Given the description of an element on the screen output the (x, y) to click on. 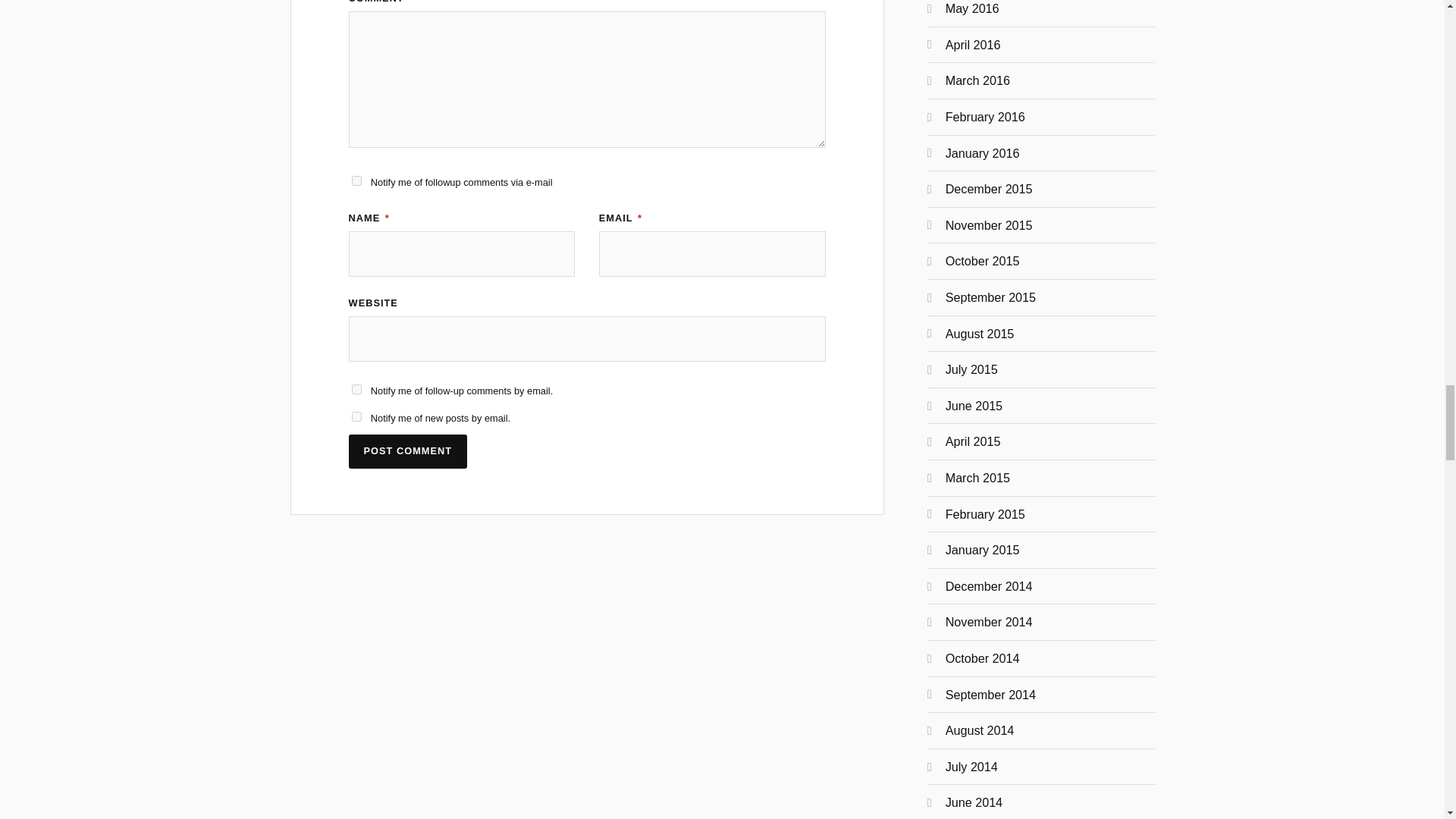
Post Comment (408, 451)
subscribe (356, 416)
subscribe (356, 388)
subscribe (356, 180)
